Given the description of an element on the screen output the (x, y) to click on. 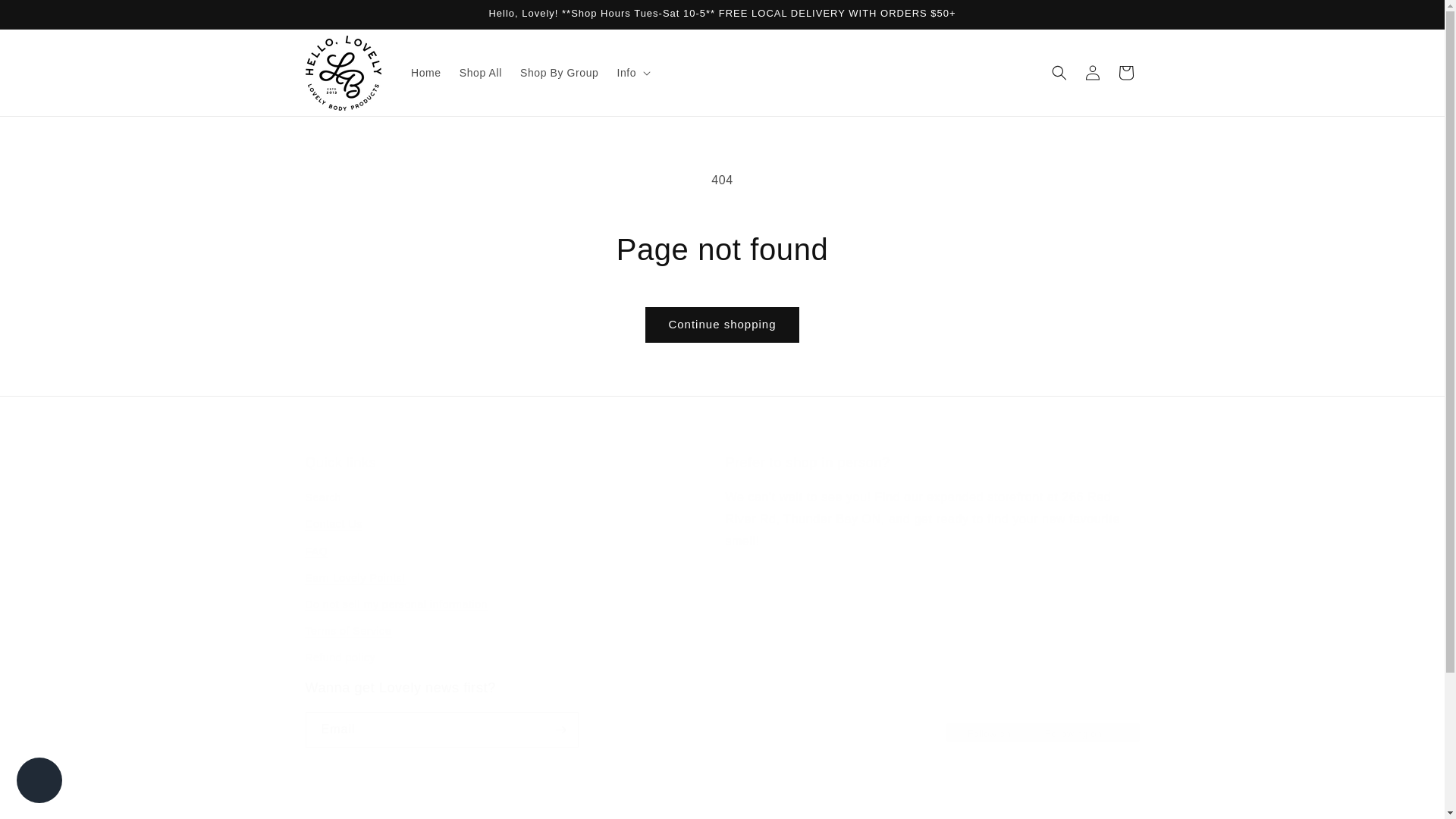
Shop By Group (559, 72)
Home (425, 72)
Smile.io Rewards Program Launcher (1361, 780)
Shopify online store chat (38, 781)
Skip to content (45, 17)
Contact Us (332, 524)
Cart (1124, 72)
Log in (1091, 72)
Shop All (480, 72)
Continue shopping (721, 713)
Search (721, 325)
